Given the description of an element on the screen output the (x, y) to click on. 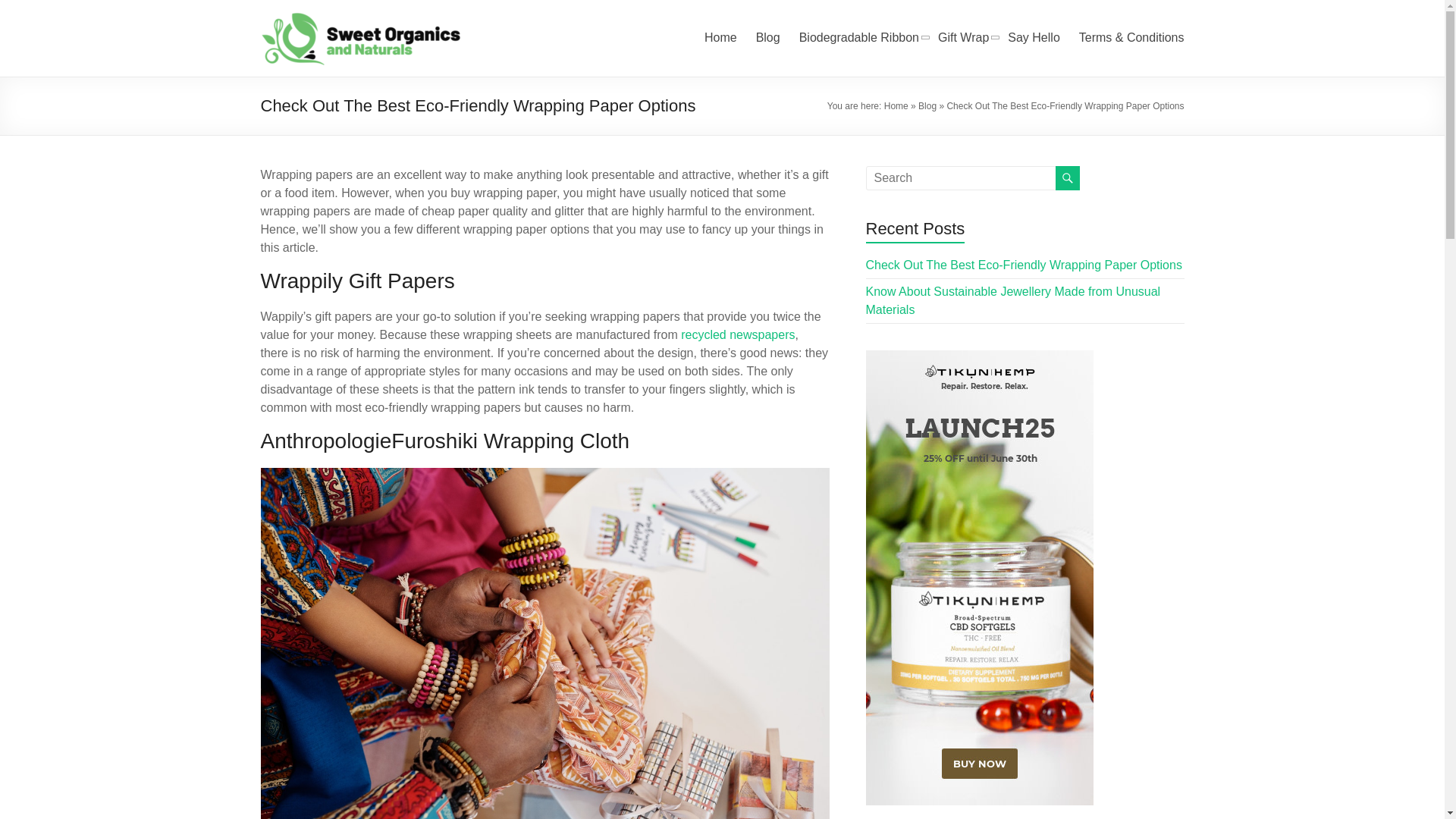
Know About Sustainable Jewellery Made from Unusual Materials (1013, 300)
Gift Wrap (962, 37)
Blog (767, 37)
Sweet Organics and Naturals (313, 74)
Biodegradable Ribbon (858, 37)
recycled newspapers (737, 334)
Home (720, 37)
Say Hello (1033, 37)
Check Out The Best Eco-Friendly Wrapping Paper Options (1024, 264)
Home (895, 105)
